Given the description of an element on the screen output the (x, y) to click on. 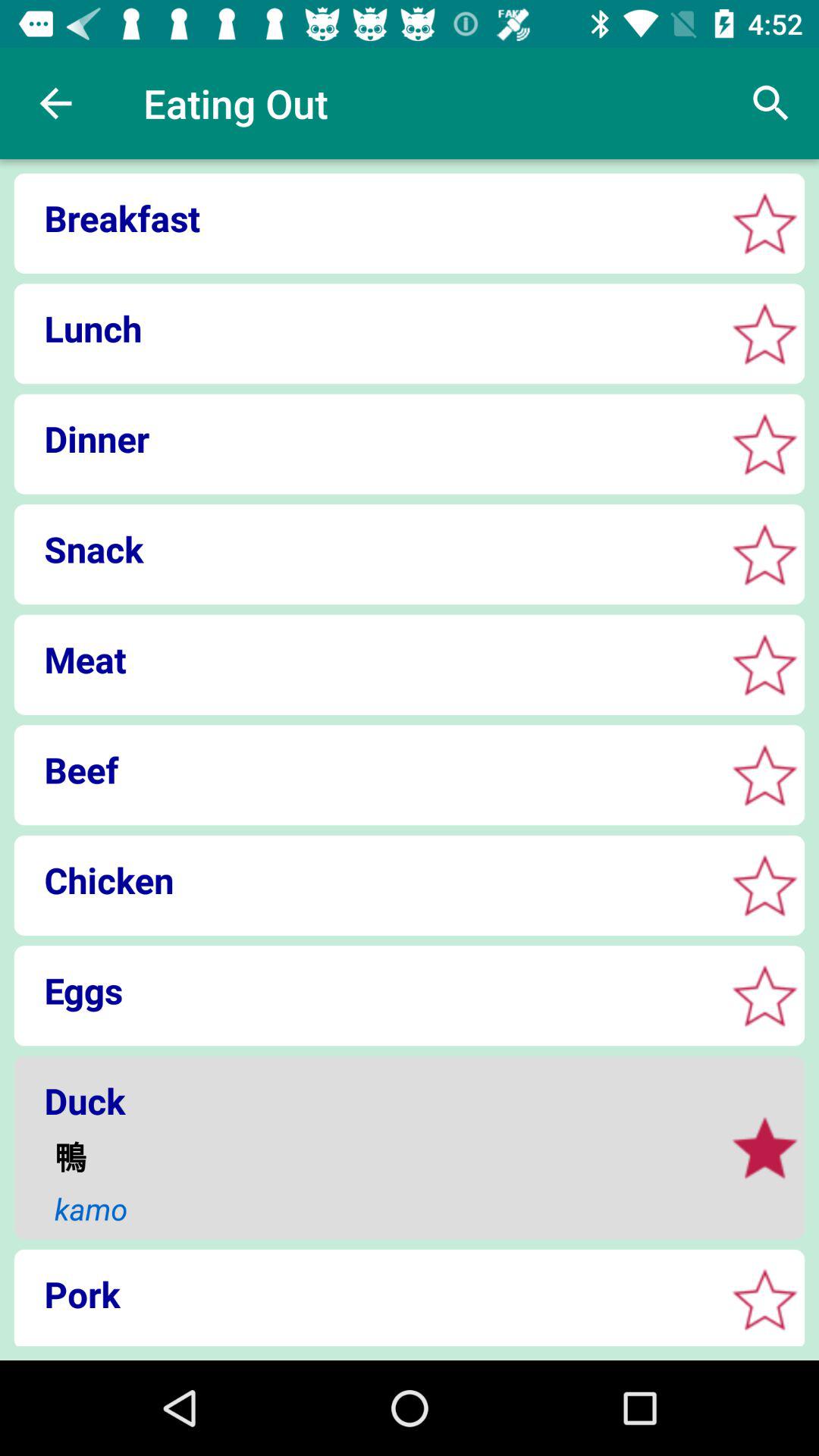
star your rewedding (764, 995)
